Given the description of an element on the screen output the (x, y) to click on. 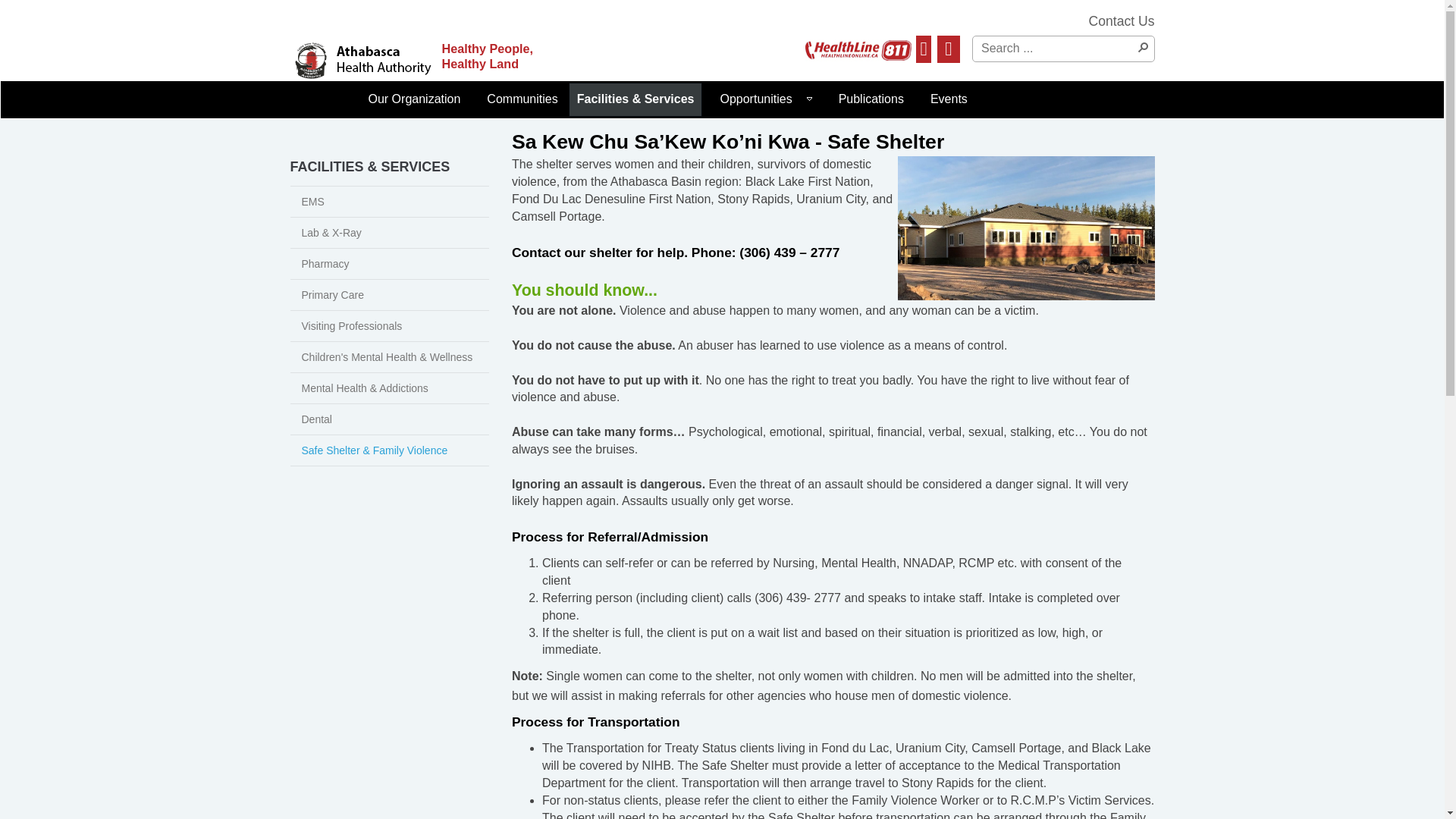
Primary Care (389, 295)
Communities (518, 99)
Publications (867, 99)
Contact Us (1120, 20)
Pharmacy (389, 264)
Dental (389, 419)
Events (944, 99)
Our Organization (410, 99)
EMS (389, 201)
Visiting Professionals (389, 326)
